Given the description of an element on the screen output the (x, y) to click on. 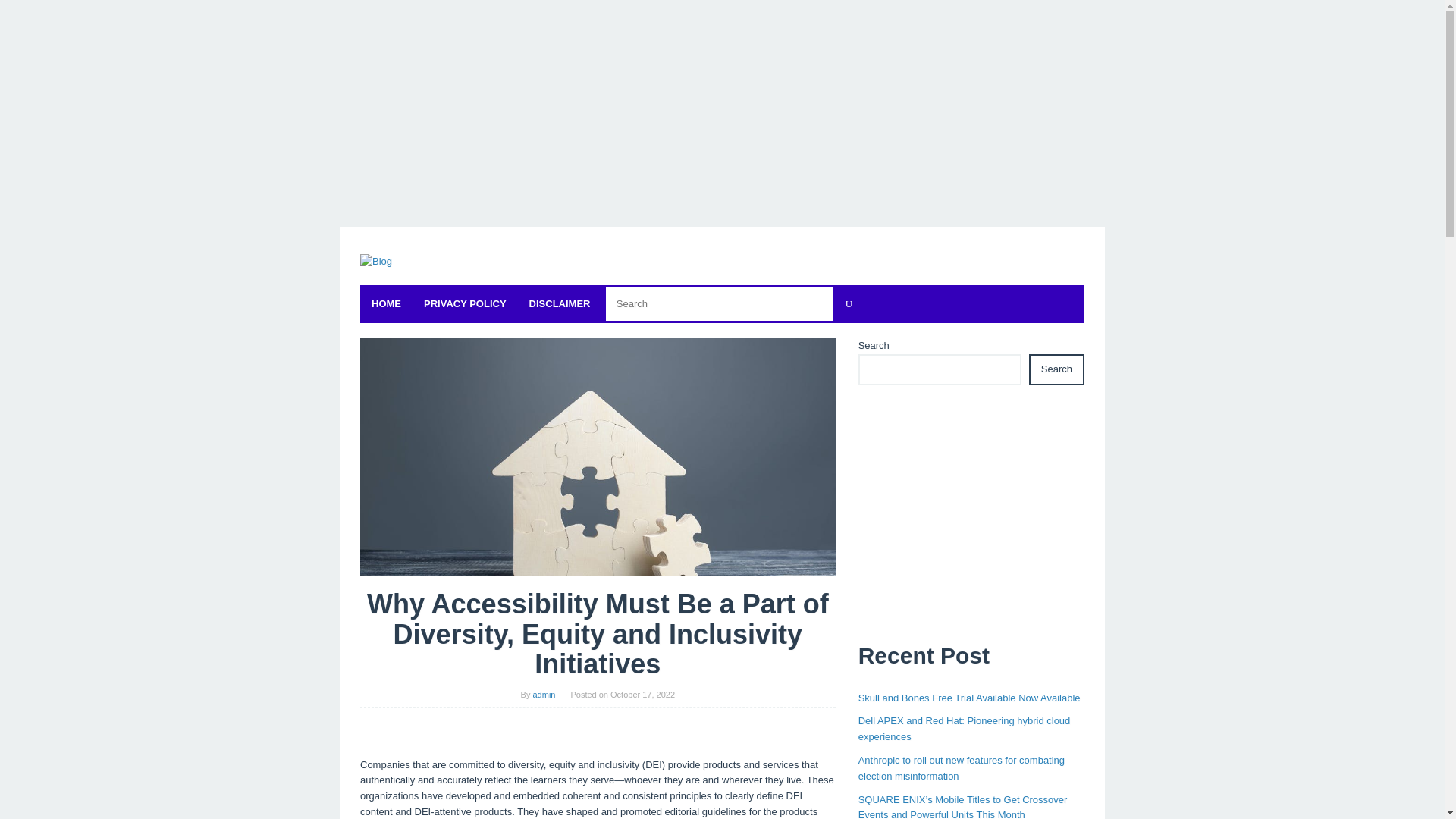
Search (1056, 368)
Blog (375, 261)
DISCLAIMER (560, 303)
Permalink to: admin (543, 694)
CONTACT US (791, 303)
HOME (385, 303)
PRIVACY POLICY (465, 303)
Blog (375, 260)
Dell APEX and Red Hat: Pioneering hybrid cloud experiences (964, 728)
TERMS AND CONDITIONS (675, 303)
admin (543, 694)
Why Accessibility Must Be a Part of Diversity, Equity and (597, 456)
Skull and Bones Free Trial Available Now Available (969, 697)
